Given the description of an element on the screen output the (x, y) to click on. 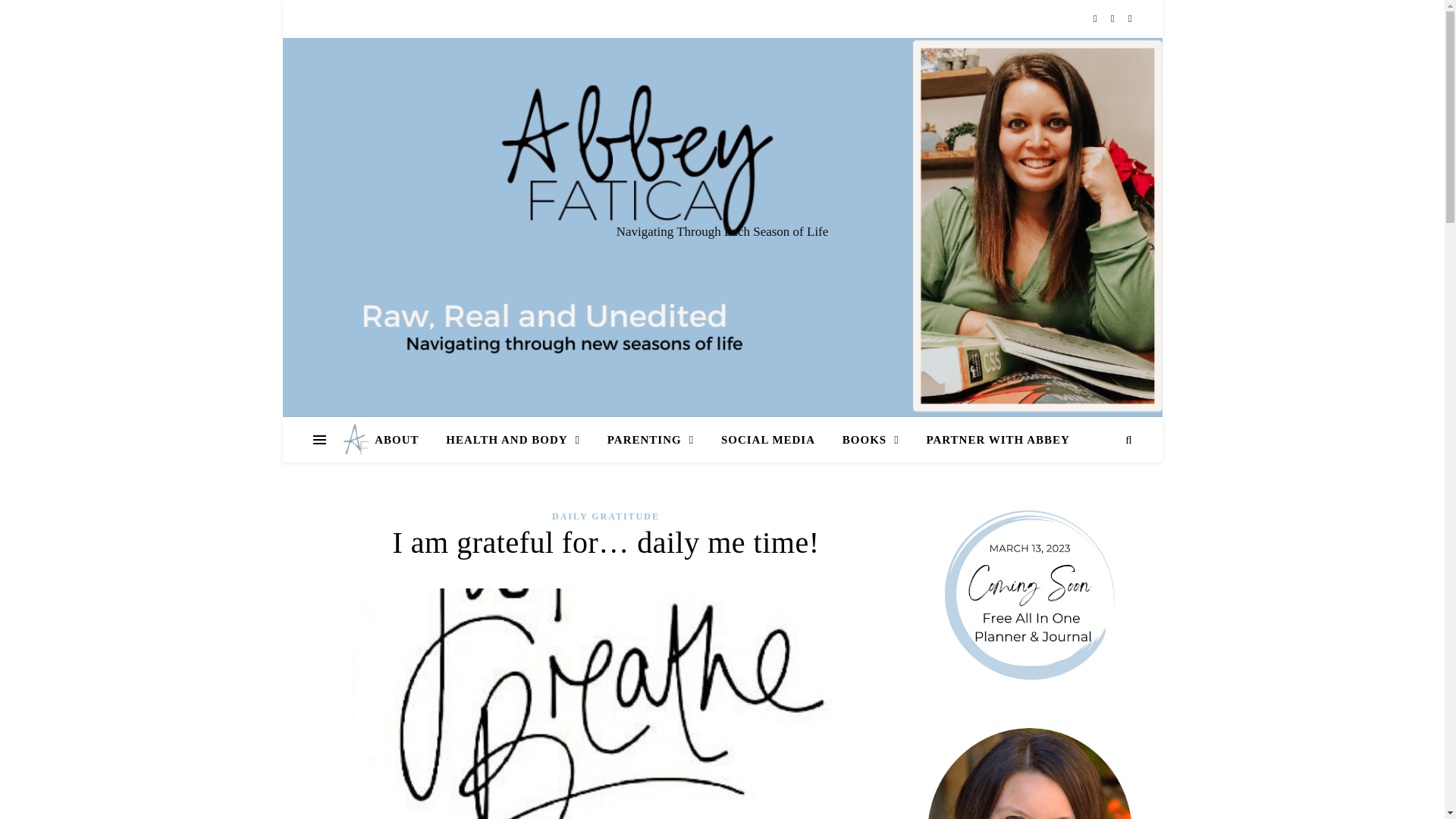
HEALTH AND BODY (512, 439)
SOCIAL MEDIA (768, 439)
Abbey Fatica (353, 439)
PARTNER WITH ABBEY (991, 439)
ABOUT (402, 439)
PARENTING (650, 439)
BOOKS (870, 439)
